Given the description of an element on the screen output the (x, y) to click on. 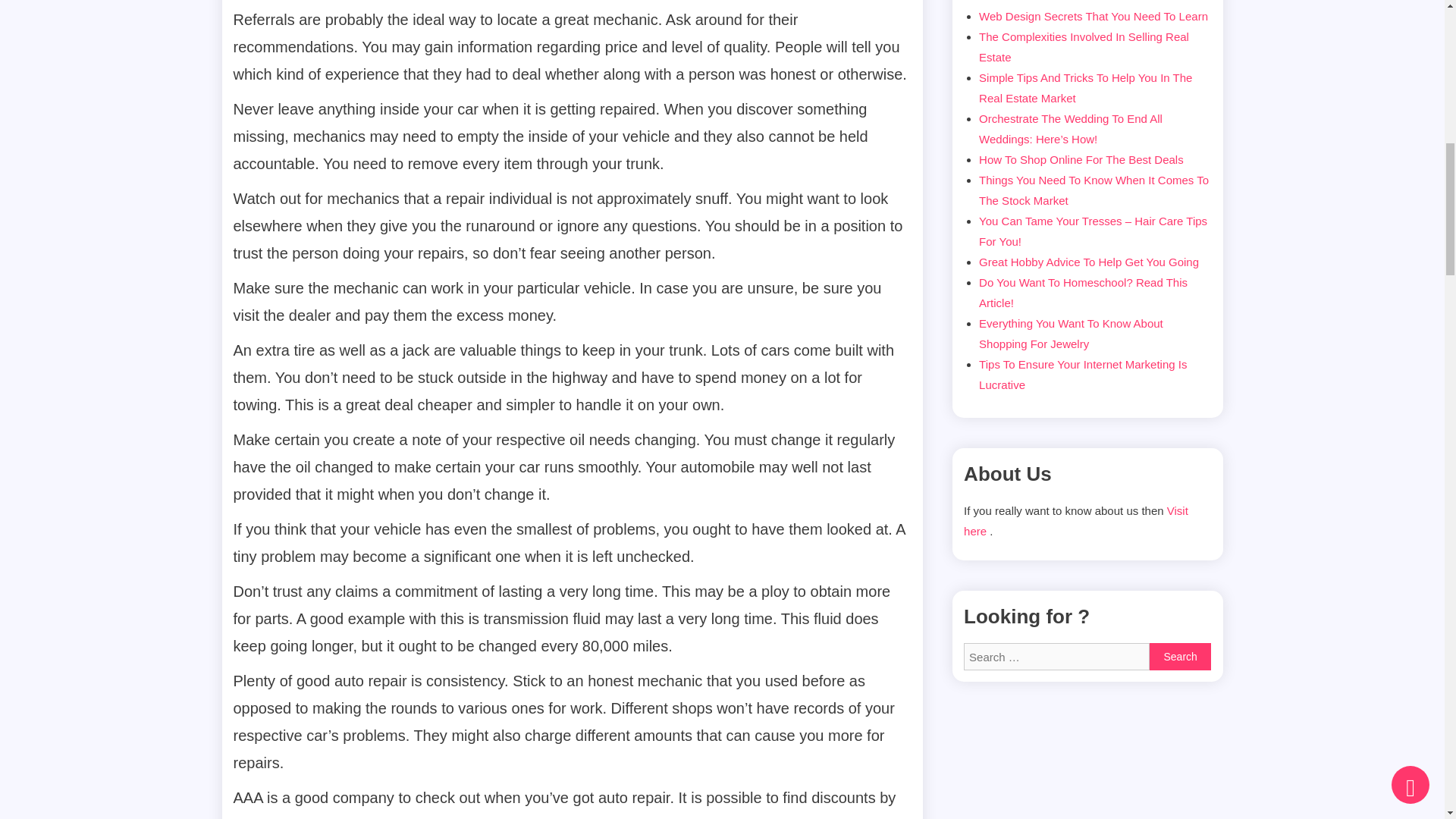
Search (1180, 656)
Search (1180, 656)
